Given the description of an element on the screen output the (x, y) to click on. 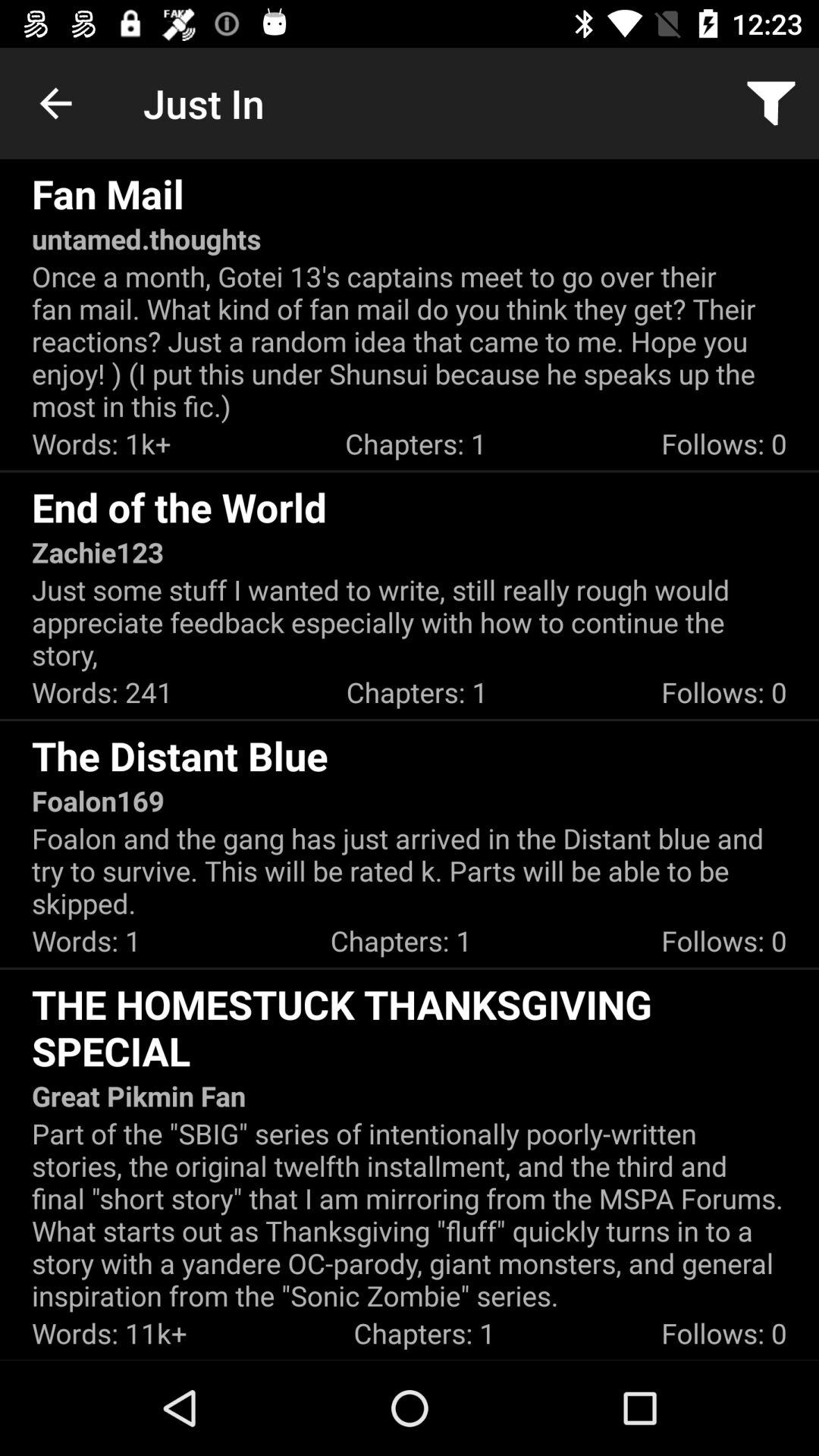
turn on the app to the right of the just in (771, 103)
